Given the description of an element on the screen output the (x, y) to click on. 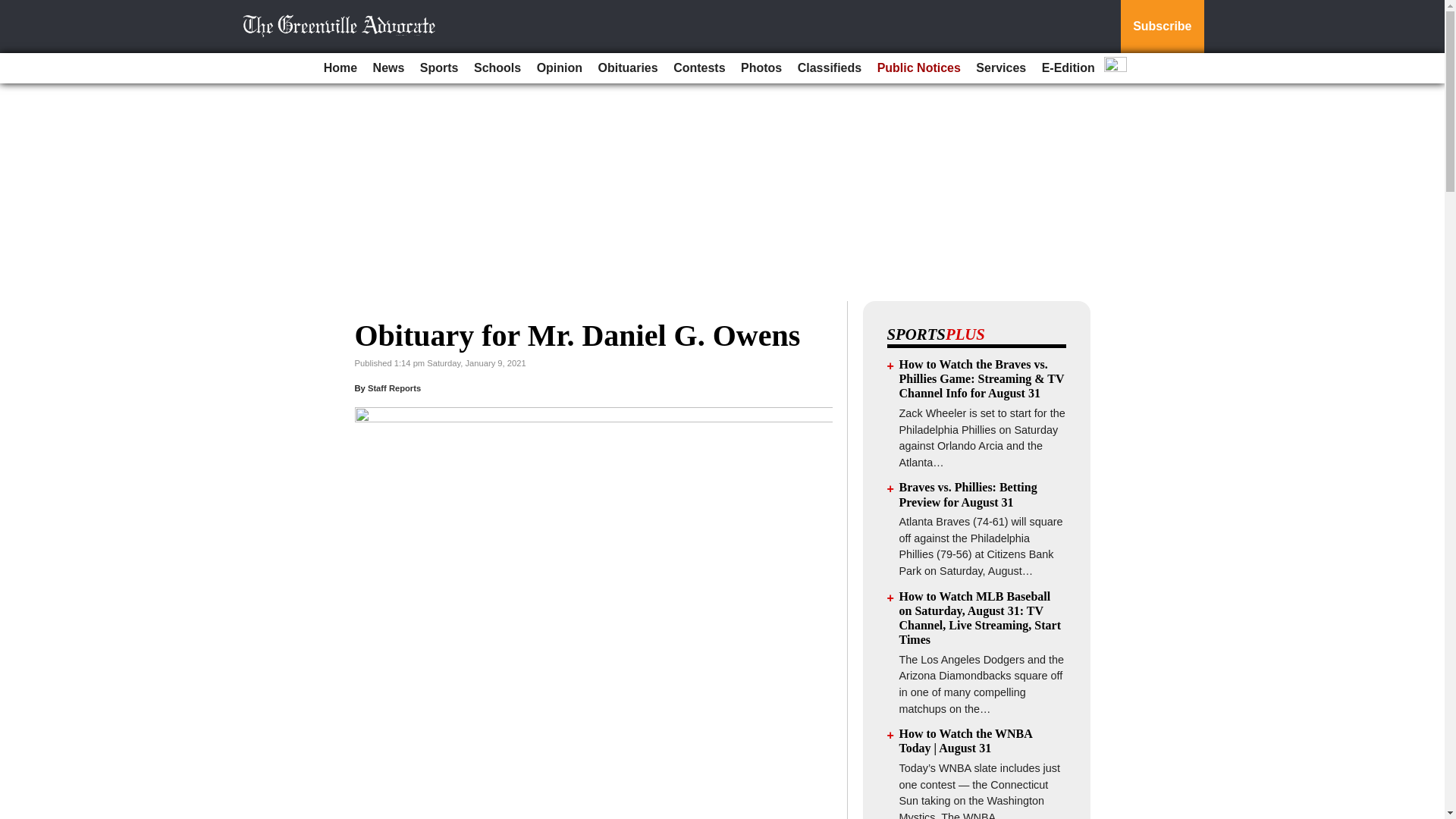
Opinion (559, 68)
E-Edition (1067, 68)
Staff Reports (394, 388)
Go (13, 9)
Obituaries (627, 68)
Sports (438, 68)
Subscribe (1162, 26)
Public Notices (918, 68)
Services (1000, 68)
Schools (497, 68)
